Given the description of an element on the screen output the (x, y) to click on. 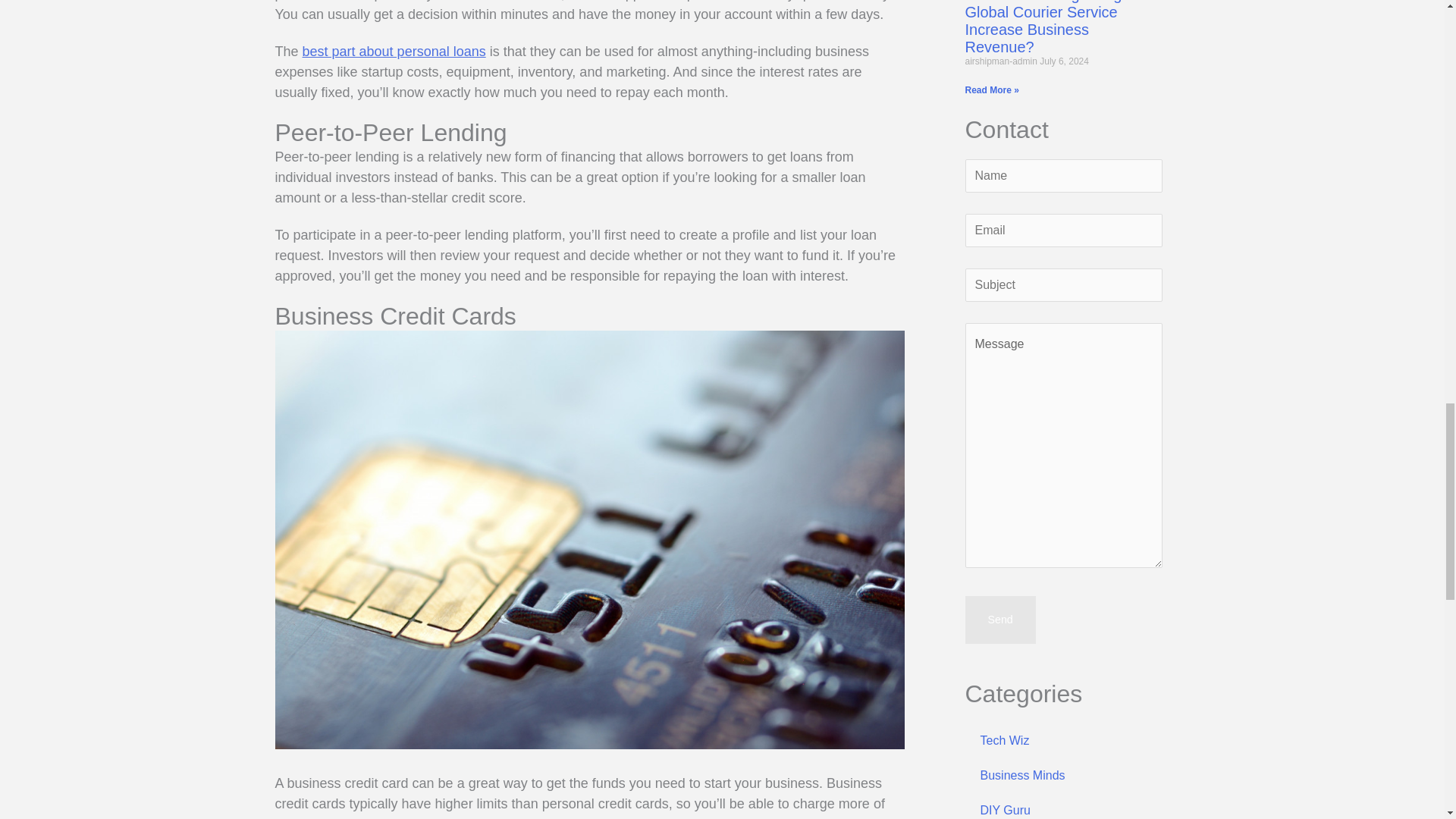
Send (999, 619)
Business Minds (1062, 775)
Tech Wiz (1062, 740)
Send (999, 619)
DIY Guru (1062, 806)
best part about personal loans (394, 51)
